Given the description of an element on the screen output the (x, y) to click on. 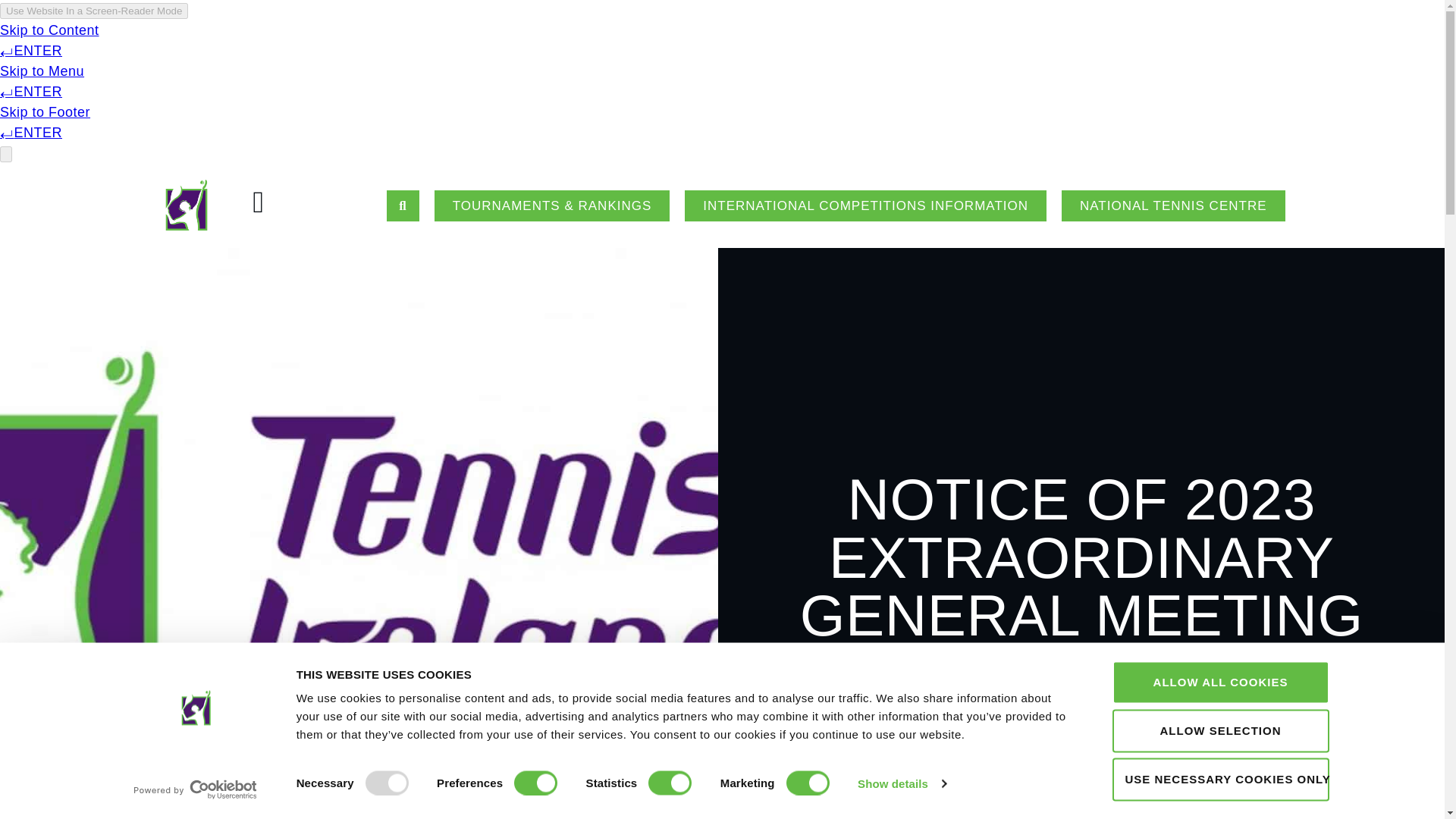
USE NECESSARY COOKIES ONLY (1219, 779)
ALLOW SELECTION (1219, 731)
ALLOW ALL COOKIES (1219, 682)
Show details (900, 783)
